Given the description of an element on the screen output the (x, y) to click on. 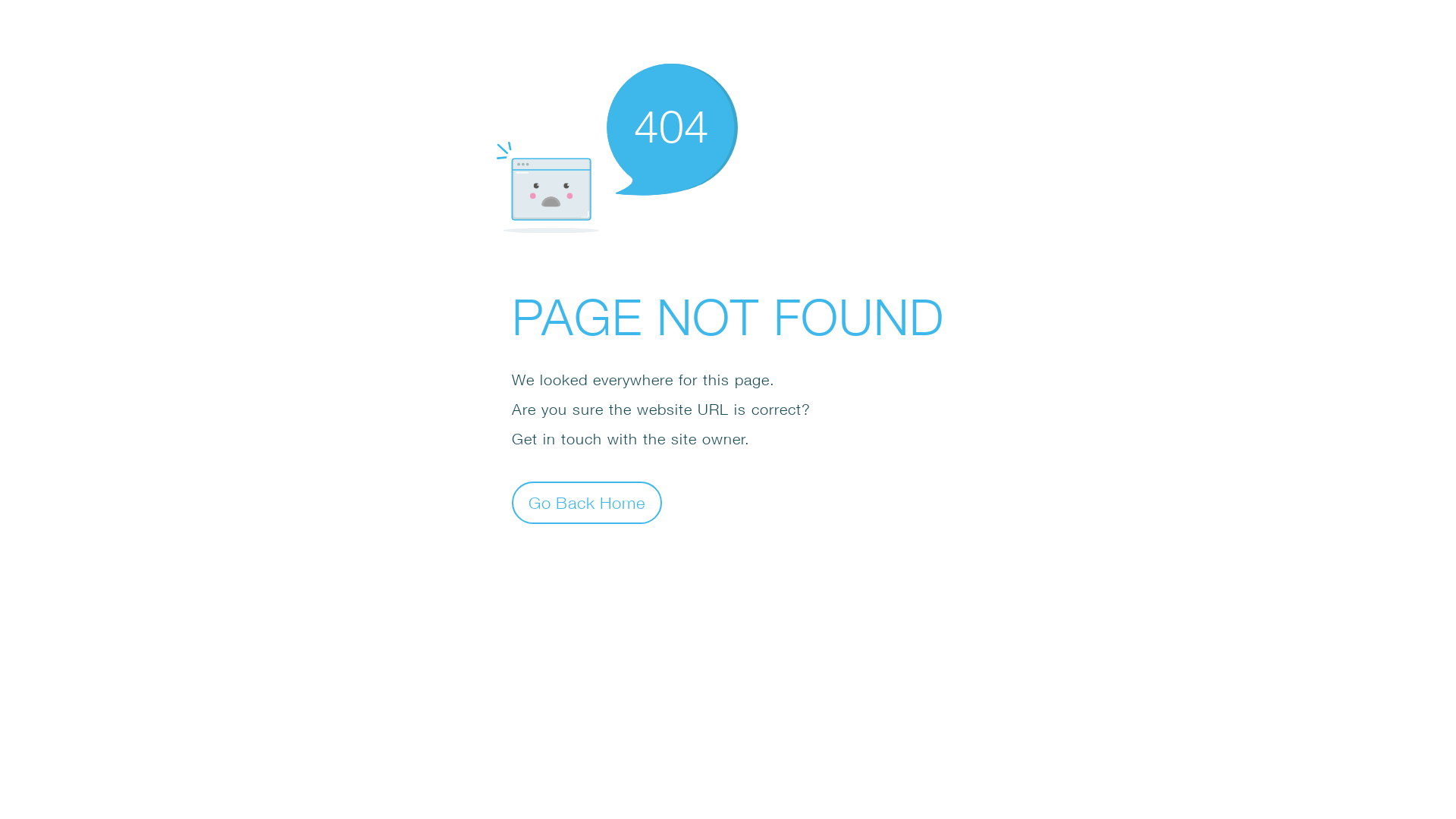
Go Back Home Element type: text (586, 502)
